Given the description of an element on the screen output the (x, y) to click on. 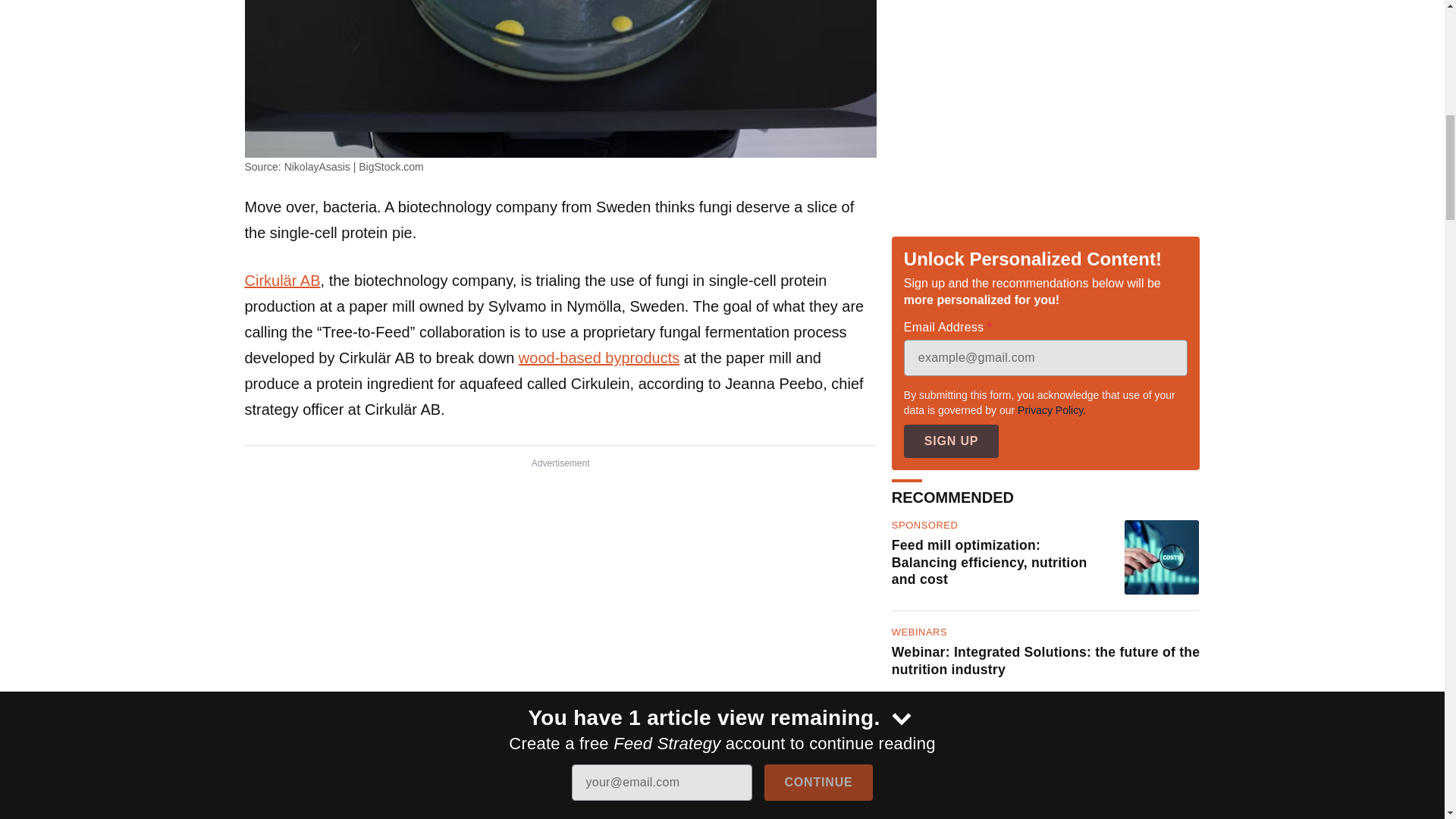
Webinars (919, 632)
3rd party ad content (560, 574)
3rd party ad content (1044, 97)
Sponsored (924, 525)
